Given the description of an element on the screen output the (x, y) to click on. 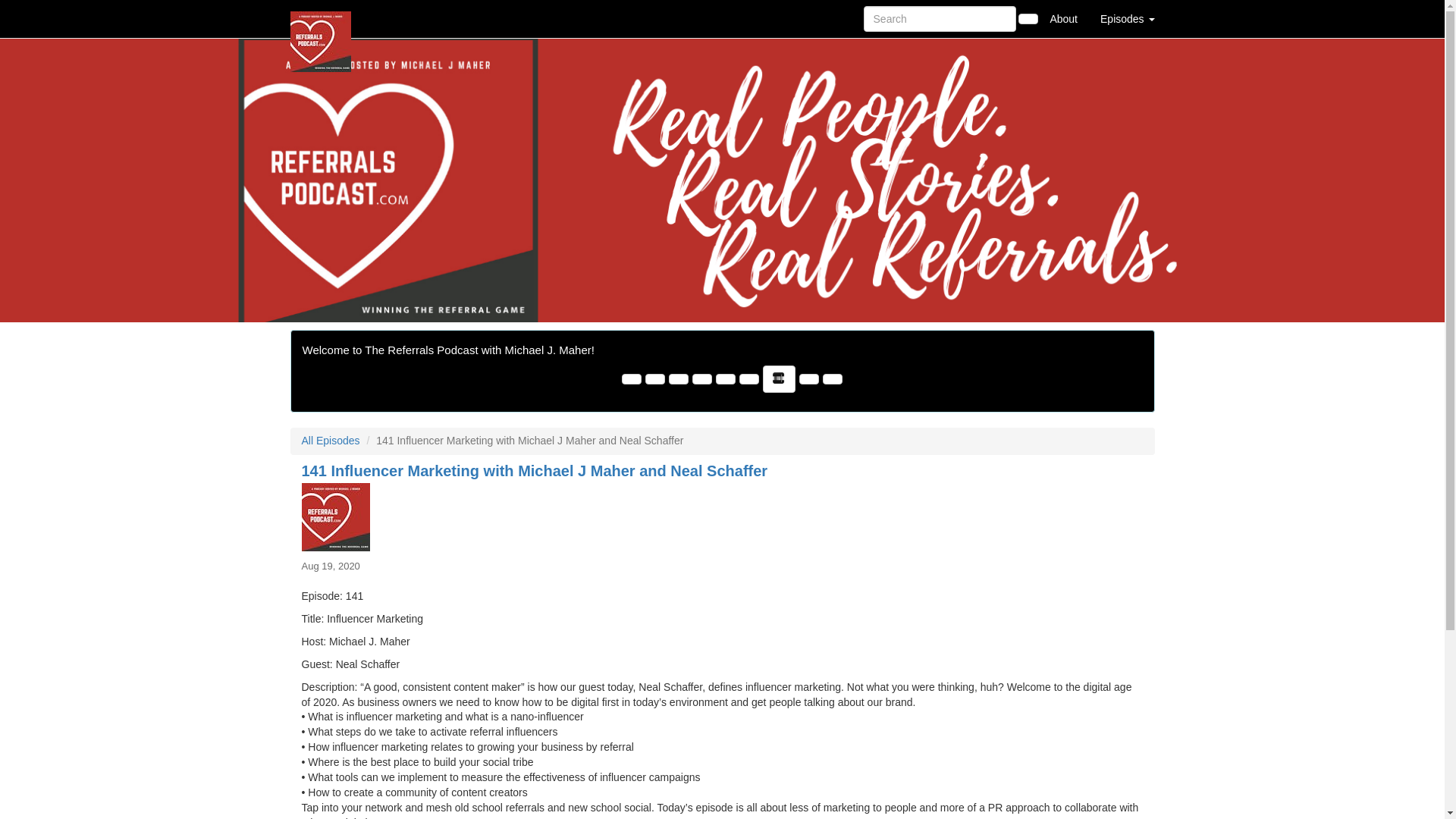
Home Page (320, 18)
Episodes (1127, 18)
About (1063, 18)
